Given the description of an element on the screen output the (x, y) to click on. 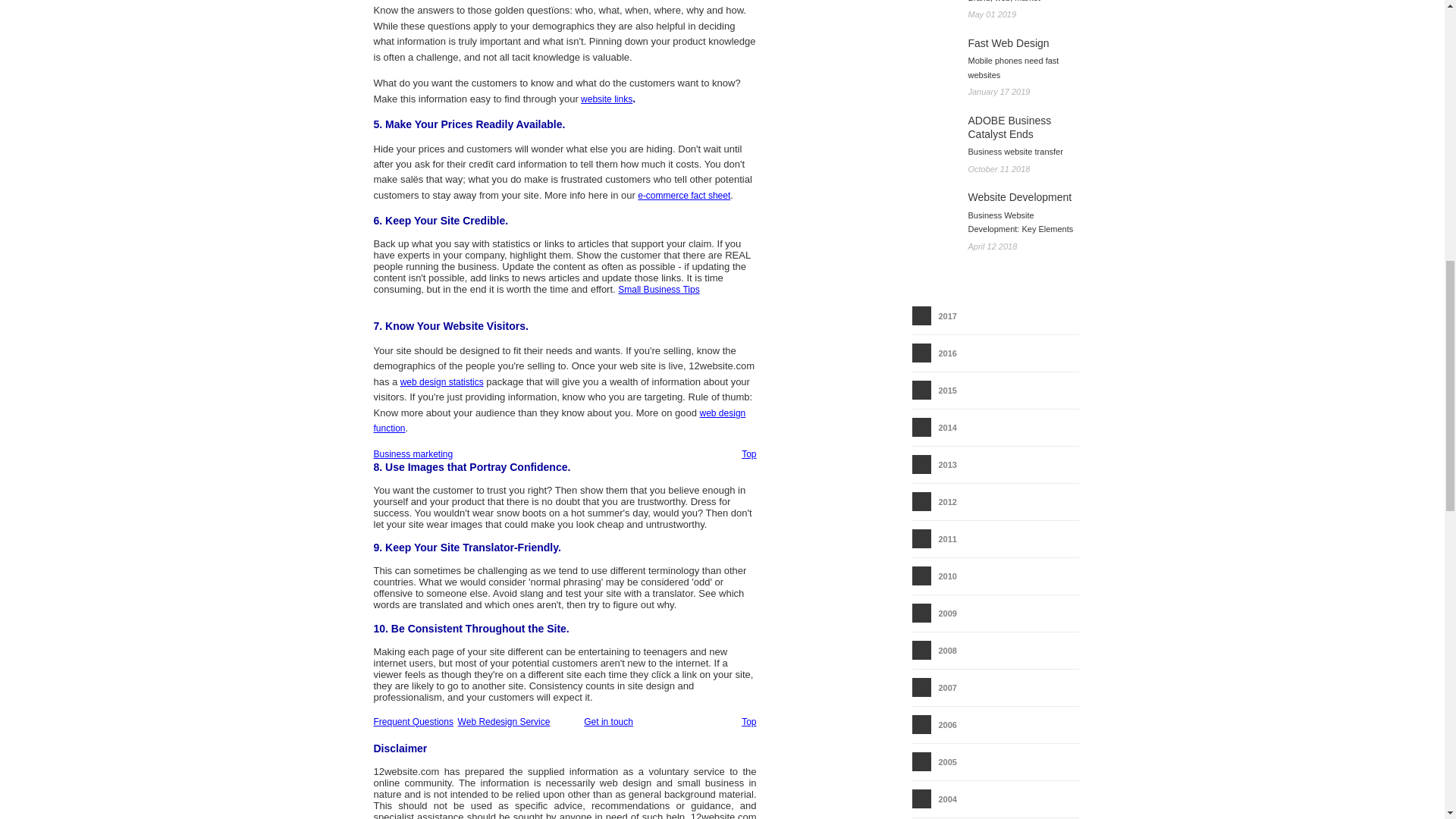
e-commerce fact sheet (683, 195)
Get in touch (608, 721)
web design function (558, 420)
Frequent Questions (412, 721)
website links (605, 99)
Top (748, 721)
Web Redesign Service (504, 721)
Business marketing (412, 453)
web design statistics (441, 381)
Top (748, 453)
